Given the description of an element on the screen output the (x, y) to click on. 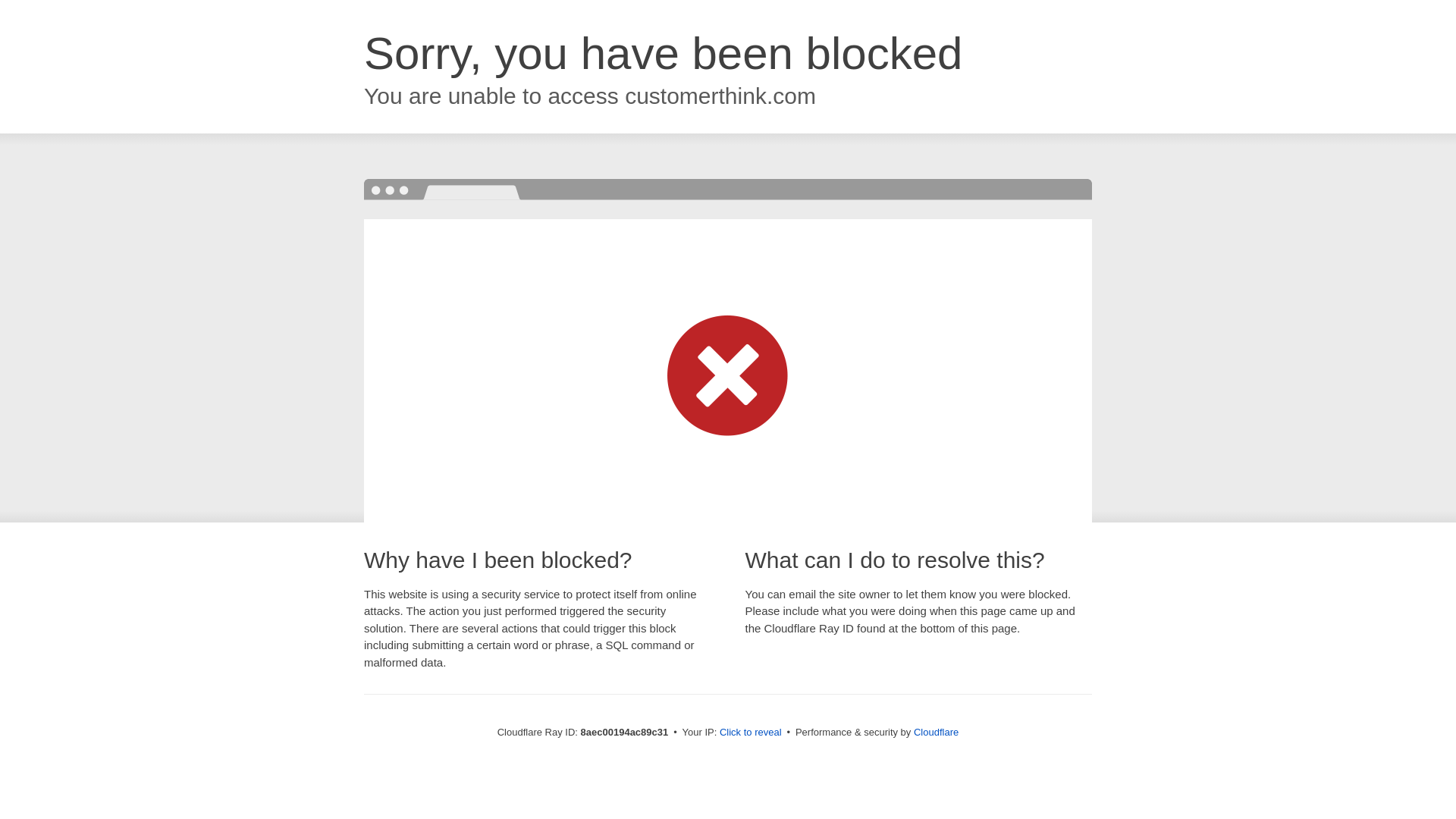
Click to reveal (750, 732)
Cloudflare (936, 731)
